Given the description of an element on the screen output the (x, y) to click on. 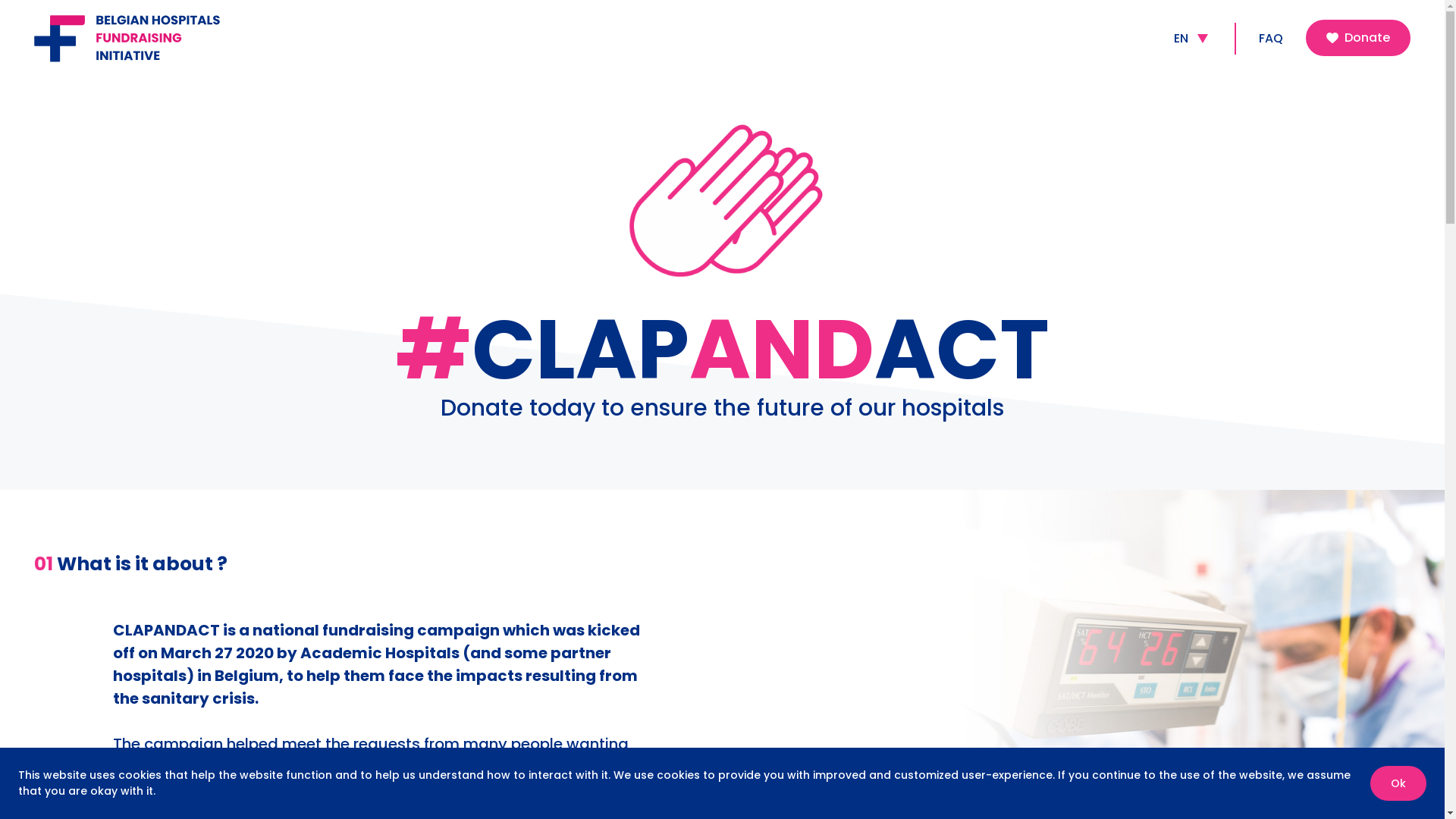
Donate Element type: text (1357, 37)
Ok Element type: text (1398, 782)
Belgian Hospitals Fundraising Initiative Element type: text (147, 37)
FAQ Element type: text (1270, 38)
